Given the description of an element on the screen output the (x, y) to click on. 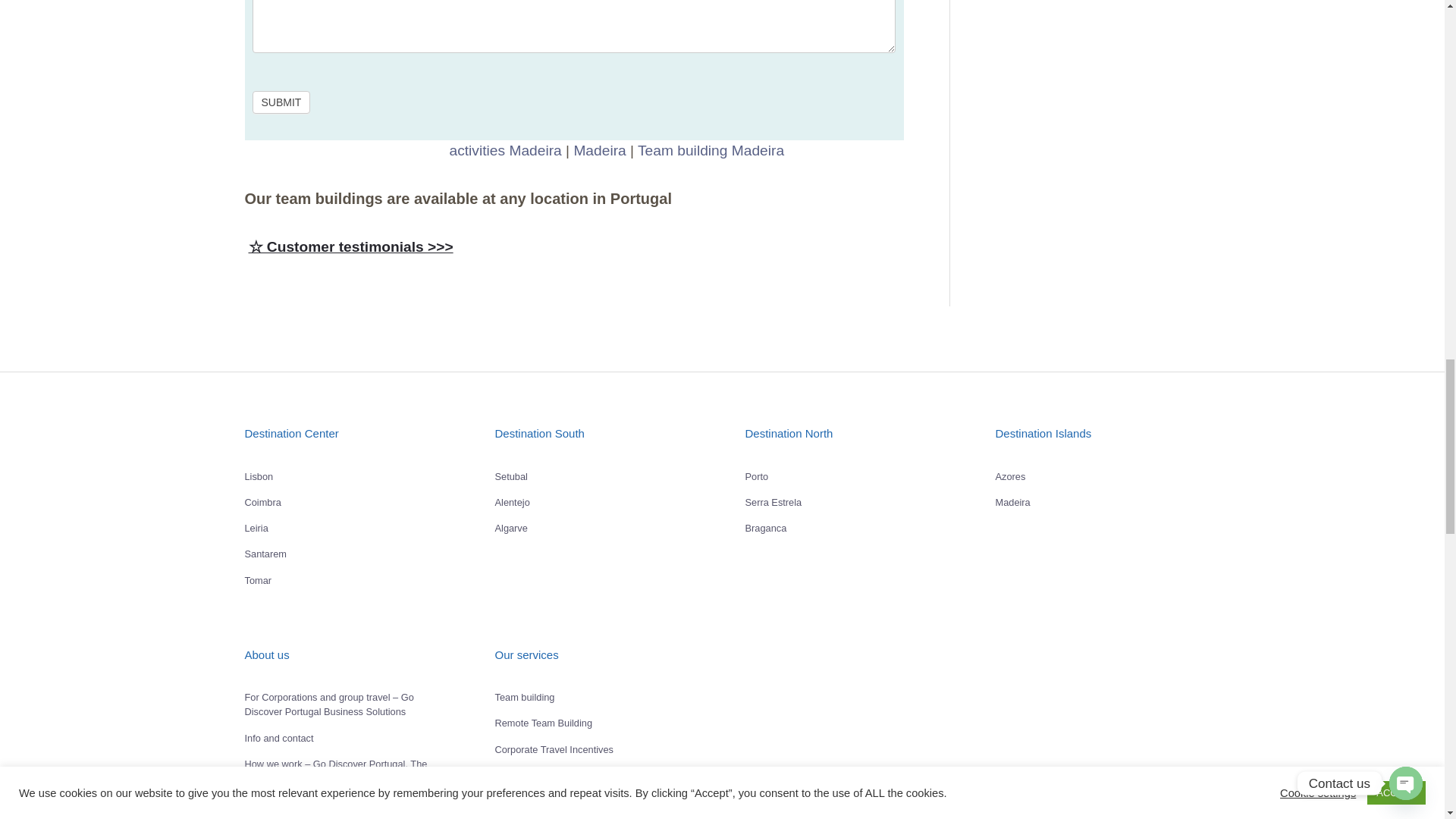
Setubal (511, 476)
Submit (280, 101)
Team building Madeira (710, 150)
Coimbra (262, 501)
Braganca (765, 527)
read what our customers say about us (573, 247)
activities Madeira (504, 150)
Santarem (264, 553)
Info and contact (278, 737)
Azores (1009, 476)
Madeira (1011, 501)
Algarve (511, 527)
Tomar (257, 580)
Leiria (255, 527)
Submit (280, 101)
